Given the description of an element on the screen output the (x, y) to click on. 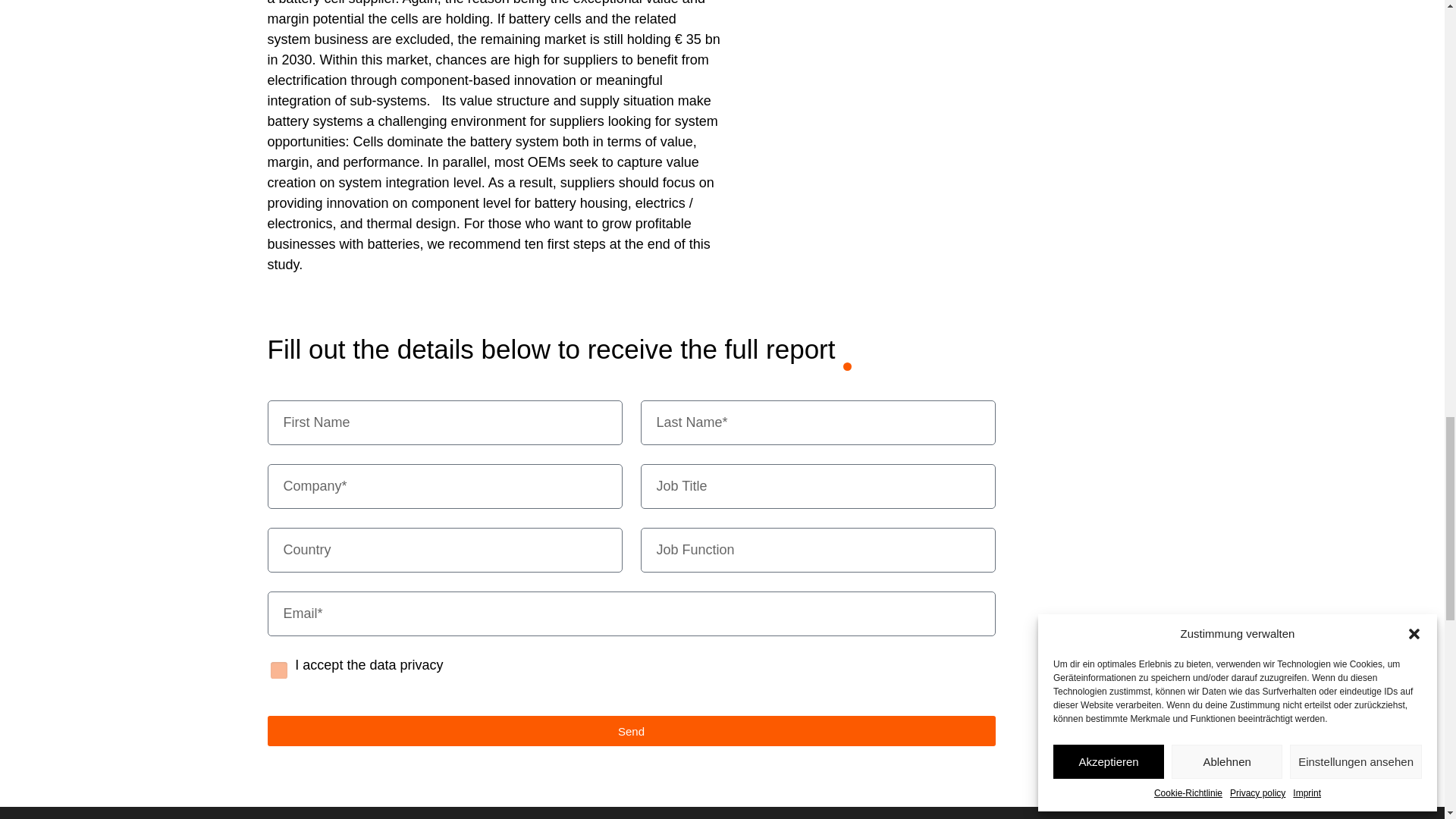
Send (630, 730)
